Given the description of an element on the screen output the (x, y) to click on. 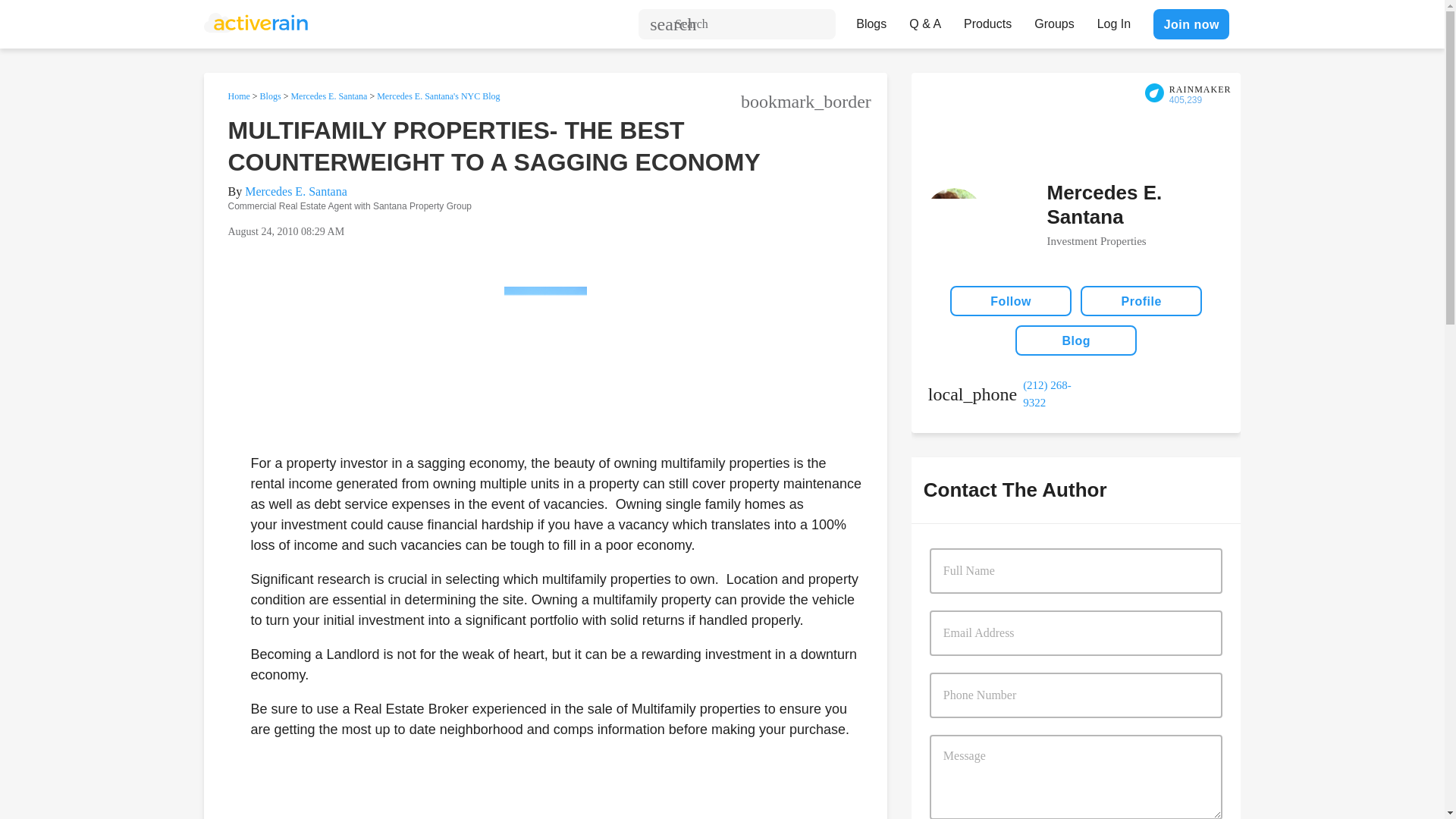
Log In (1113, 19)
Join now (1190, 24)
Products (986, 19)
Mercedes E. Santana (327, 95)
work (1001, 393)
Mercedes E. Santana (295, 191)
Blogs (870, 19)
Home (237, 95)
Blogs (270, 95)
Mercedes E. Santana's NYC Blog (438, 95)
Groups (1053, 19)
